Given the description of an element on the screen output the (x, y) to click on. 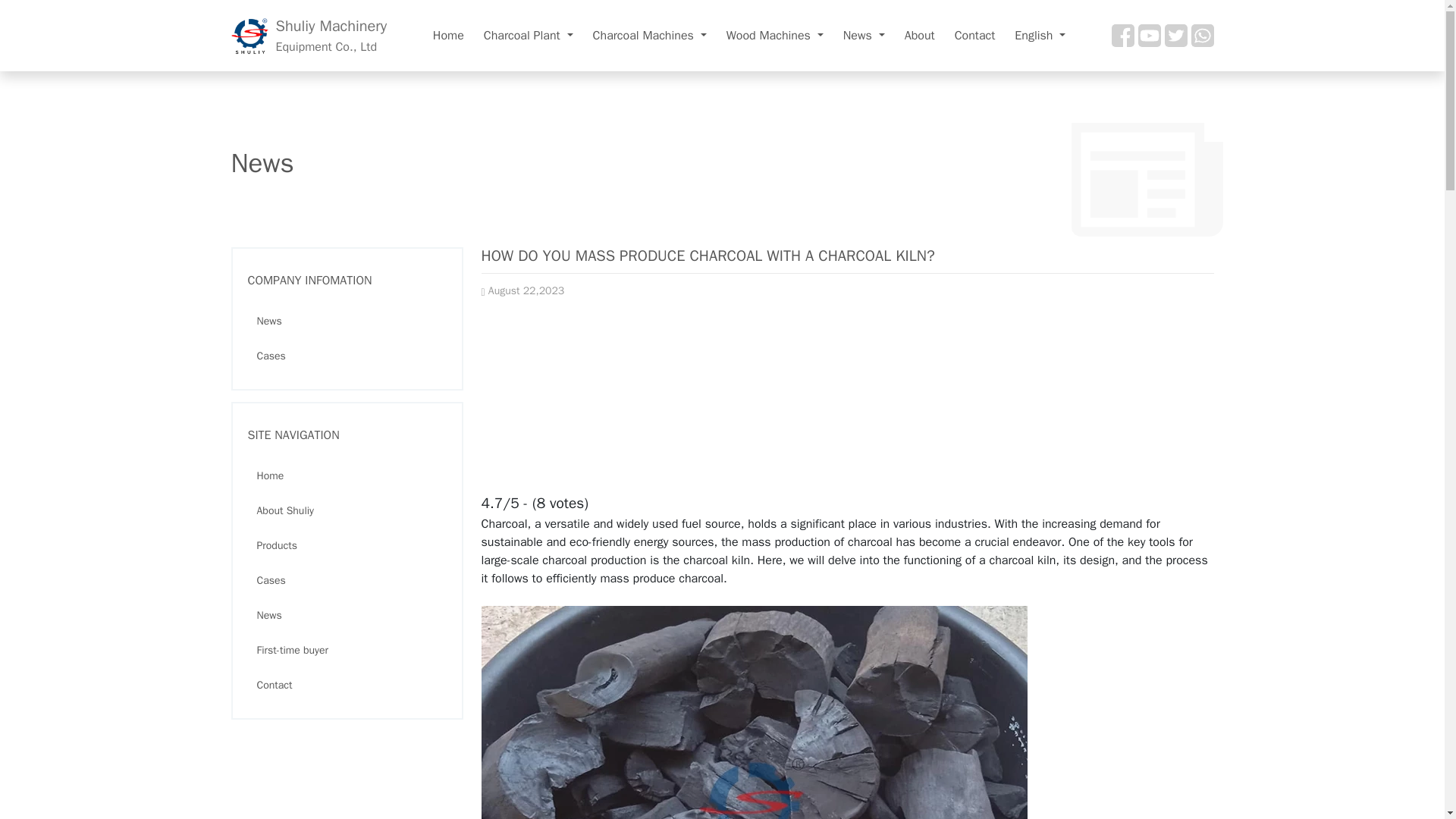
Charcoal Plant (308, 35)
Charcoal Machines (528, 35)
Wood Machines (649, 35)
